Given the description of an element on the screen output the (x, y) to click on. 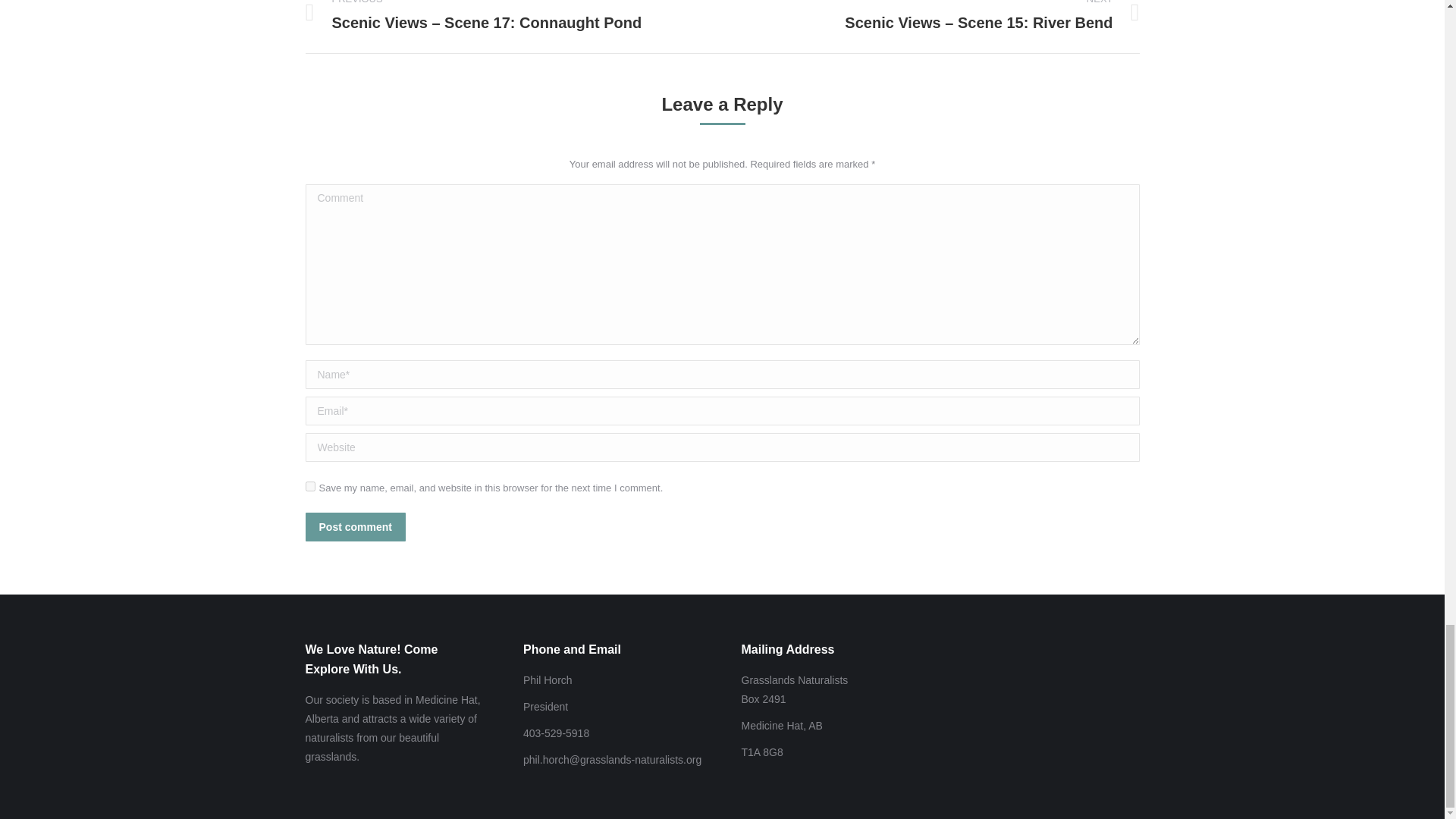
yes (309, 486)
